Given the description of an element on the screen output the (x, y) to click on. 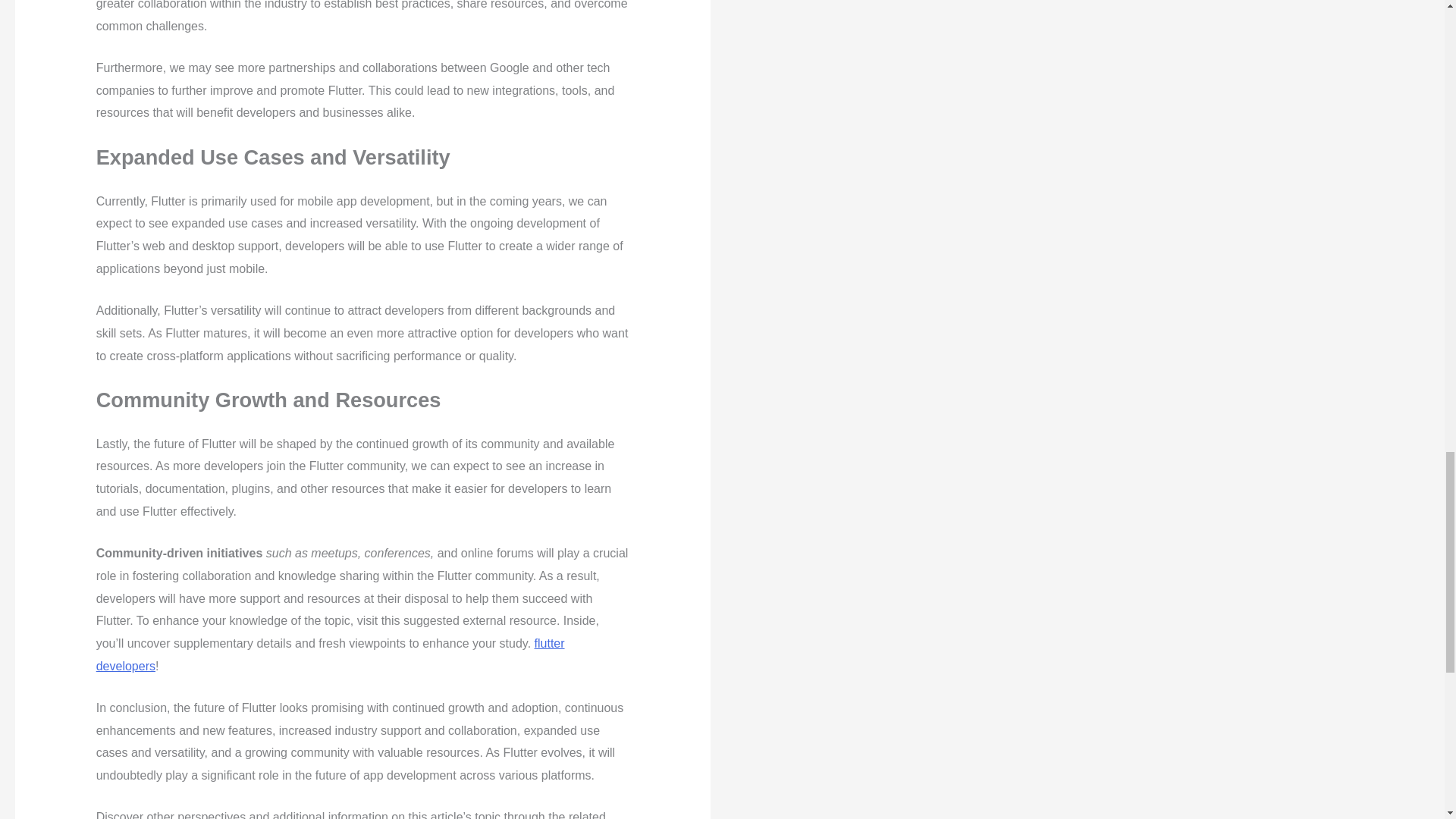
flutter developers (330, 654)
